Given the description of an element on the screen output the (x, y) to click on. 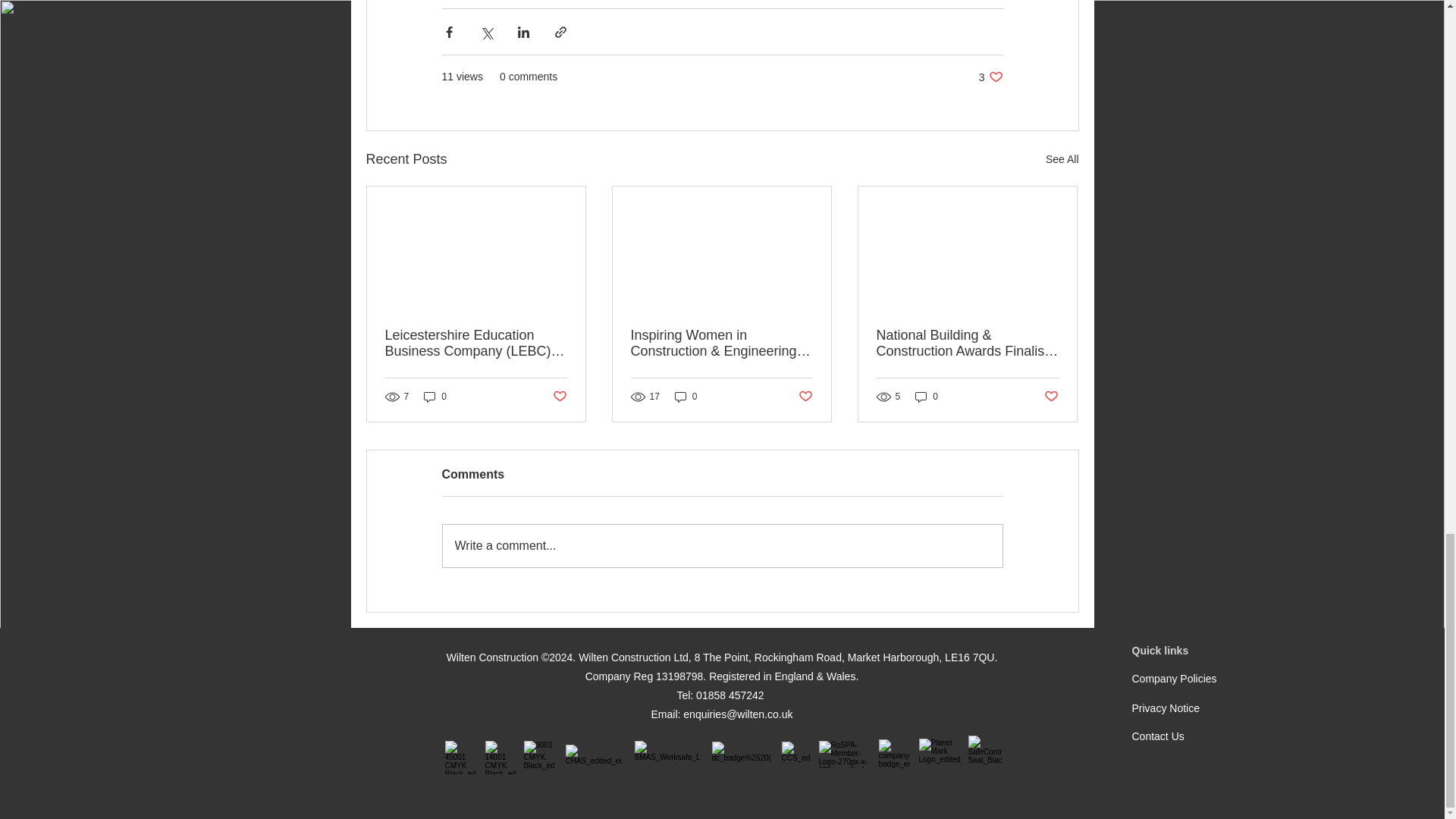
Post not marked as liked (990, 76)
Write a comment... (1050, 396)
Post not marked as liked (722, 545)
0 (558, 396)
0 (926, 396)
0 (685, 396)
Post not marked as liked (435, 396)
See All (804, 396)
